Given the description of an element on the screen output the (x, y) to click on. 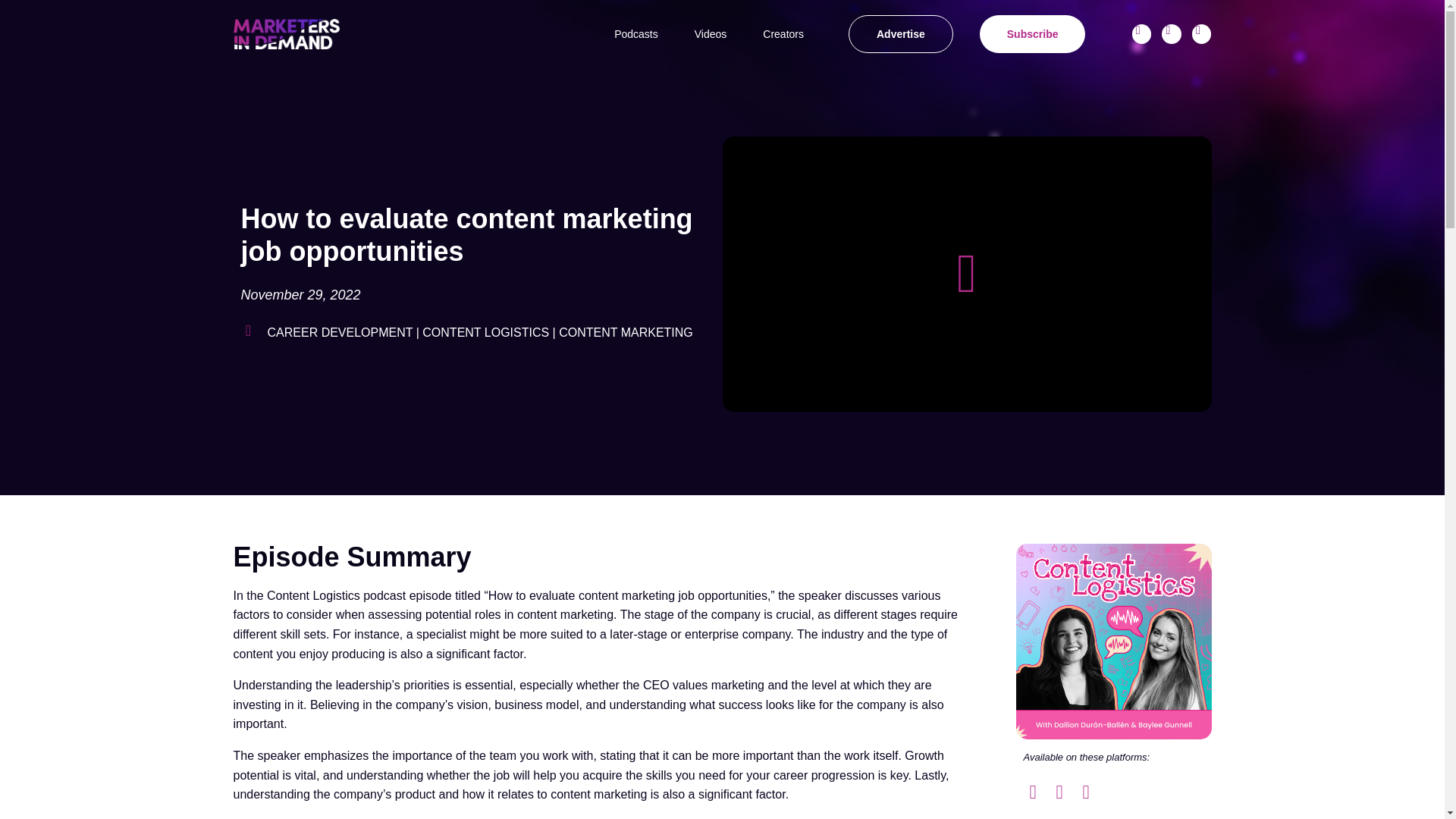
Creators (783, 34)
Podcasts (636, 34)
Videos (711, 34)
Subscribe (1032, 34)
Advertise (900, 34)
